Given the description of an element on the screen output the (x, y) to click on. 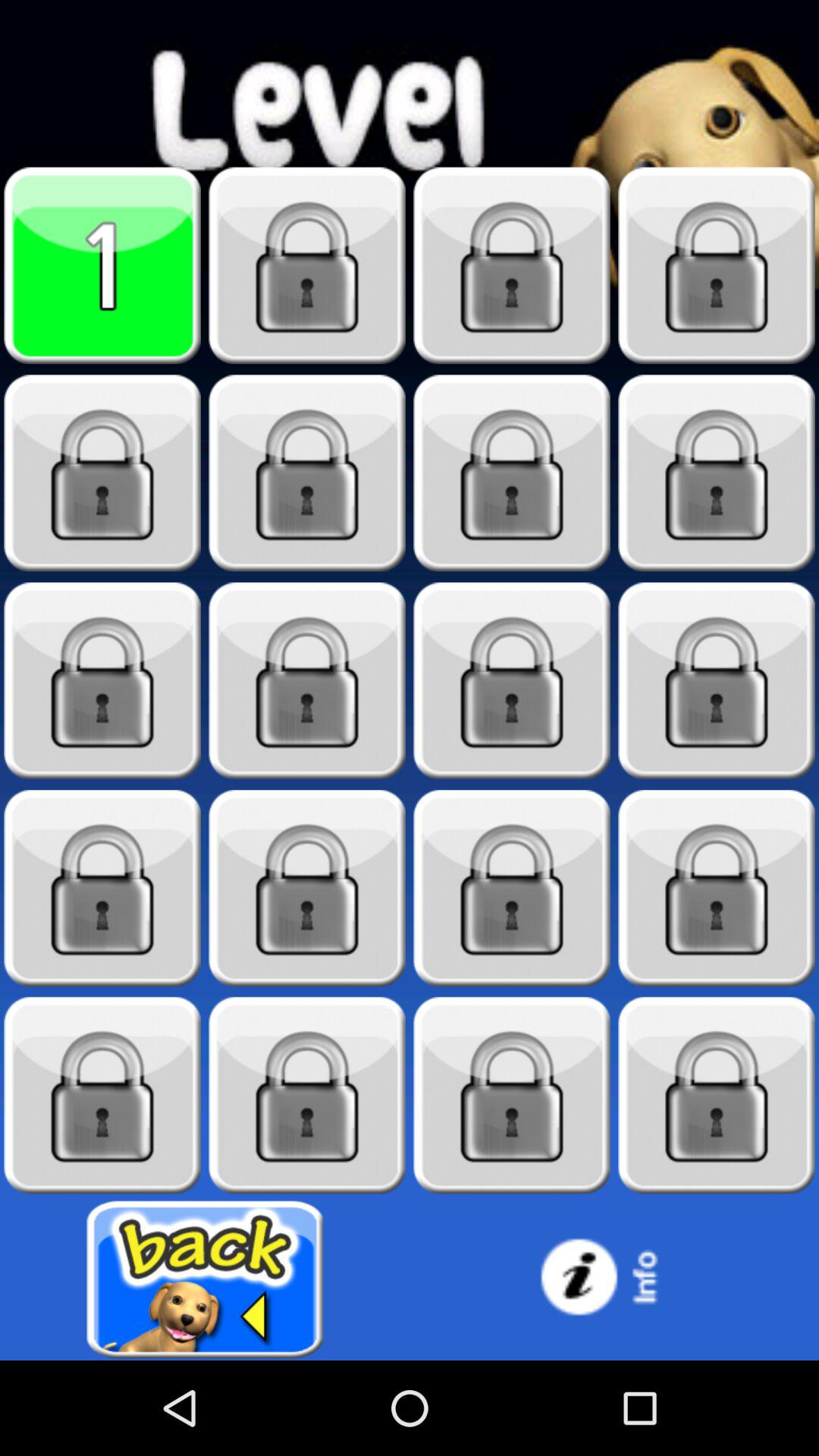
select level (102, 265)
